Given the description of an element on the screen output the (x, y) to click on. 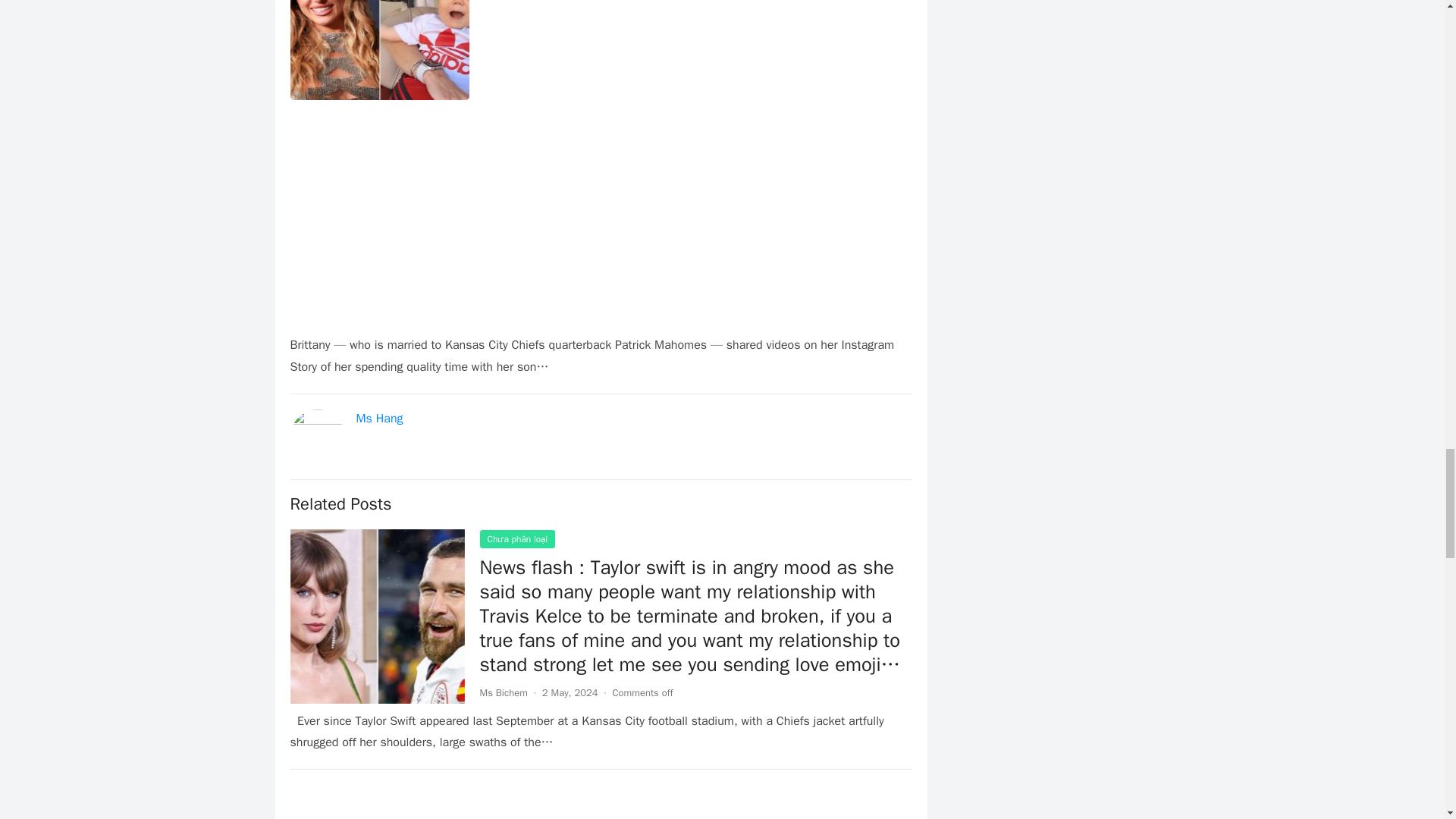
Posts by Ms Bichem (503, 692)
Ms Bichem (503, 692)
Ms Hang (379, 418)
